Given the description of an element on the screen output the (x, y) to click on. 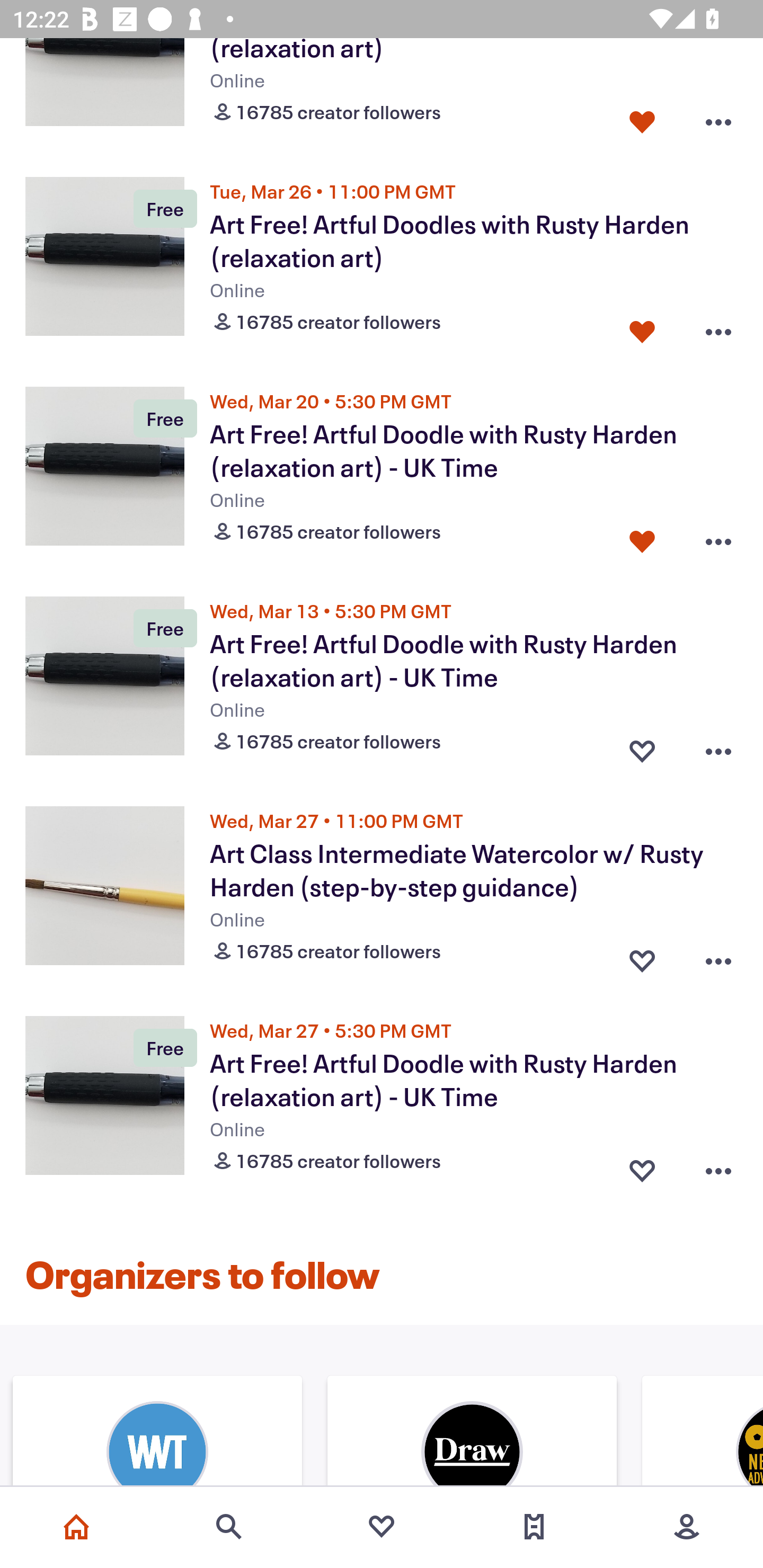
Favorite button (642, 118)
Overflow menu button (718, 118)
Favorite button (642, 327)
Overflow menu button (718, 327)
Favorite button (642, 536)
Overflow menu button (718, 536)
Favorite button (642, 746)
Overflow menu button (718, 746)
Favorite button (642, 956)
Overflow menu button (718, 956)
Favorite button (642, 1167)
Overflow menu button (718, 1167)
Organizer's image (157, 1433)
Organizer's image (471, 1433)
Home (76, 1526)
Search events (228, 1526)
Favorites (381, 1526)
Tickets (533, 1526)
More (686, 1526)
